Given the description of an element on the screen output the (x, y) to click on. 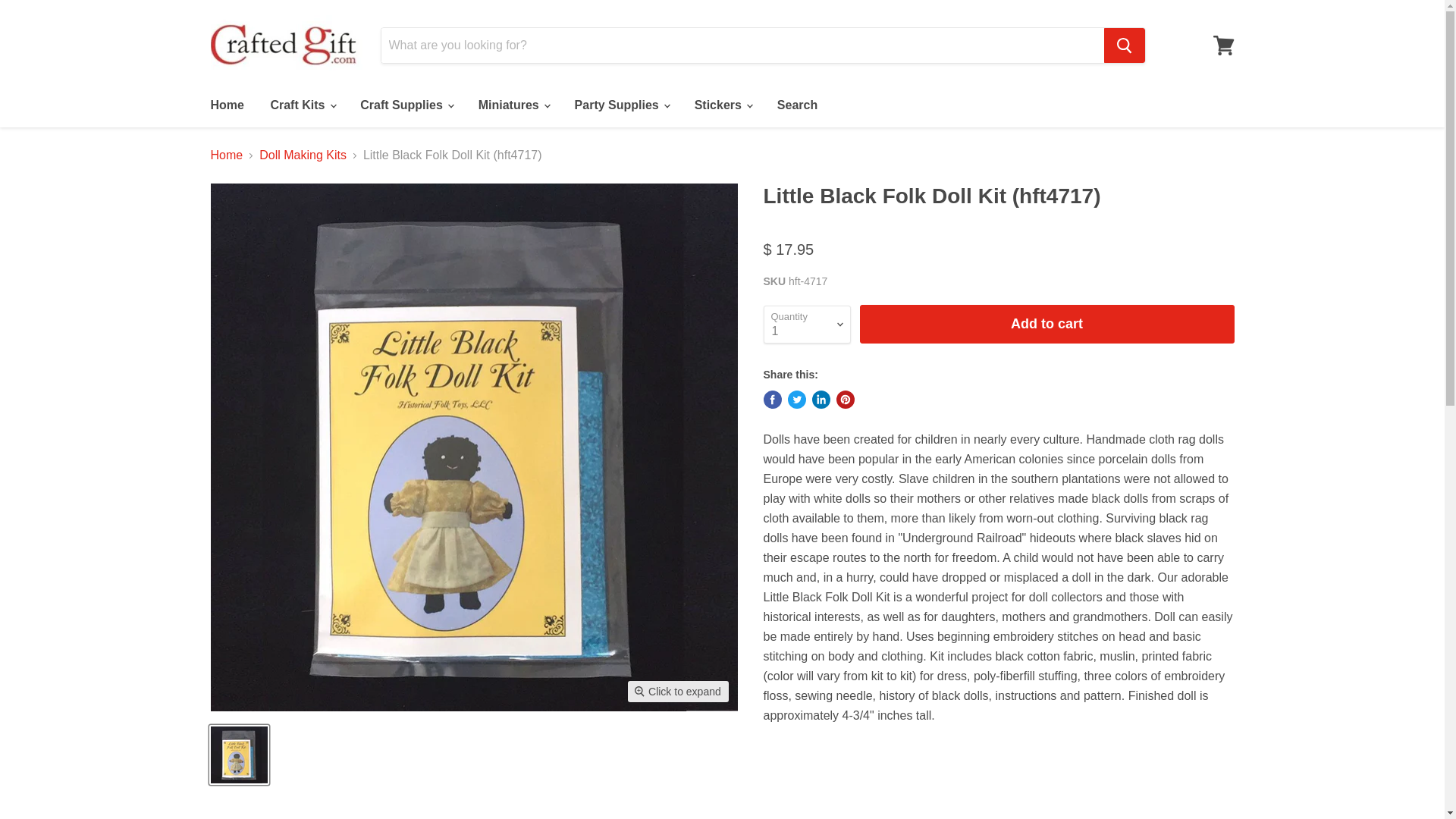
Craft Kits (302, 105)
View cart (1223, 45)
Home (226, 105)
Craft Supplies (406, 105)
